Given the description of an element on the screen output the (x, y) to click on. 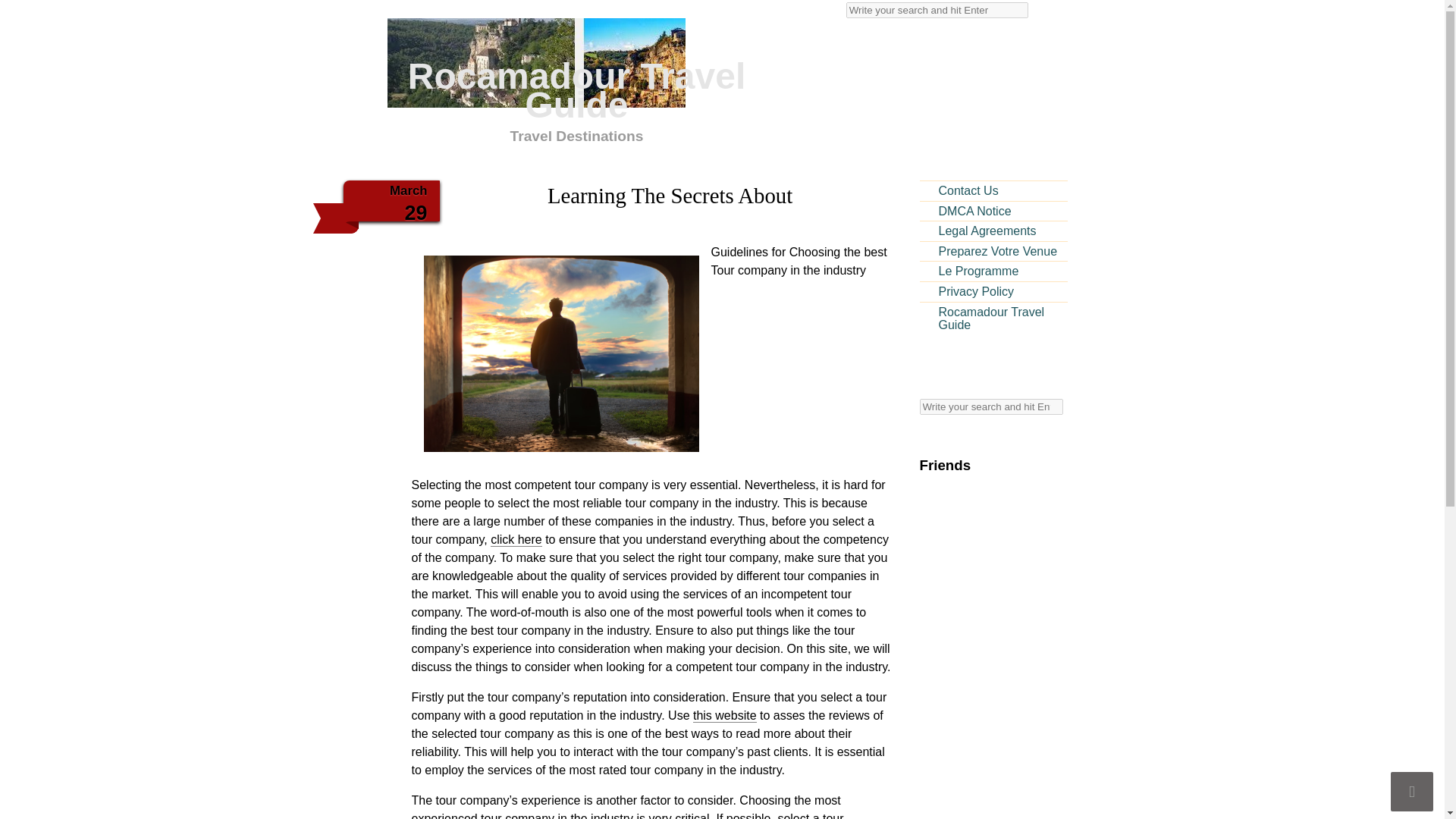
Rocamadour Travel Guide (576, 81)
this website (725, 715)
Privacy Policy (992, 291)
Search (990, 406)
click here (515, 540)
Search (936, 10)
DMCA Notice (992, 210)
Contact Us (576, 81)
Rocamadour Travel Guide (992, 190)
